Given the description of an element on the screen output the (x, y) to click on. 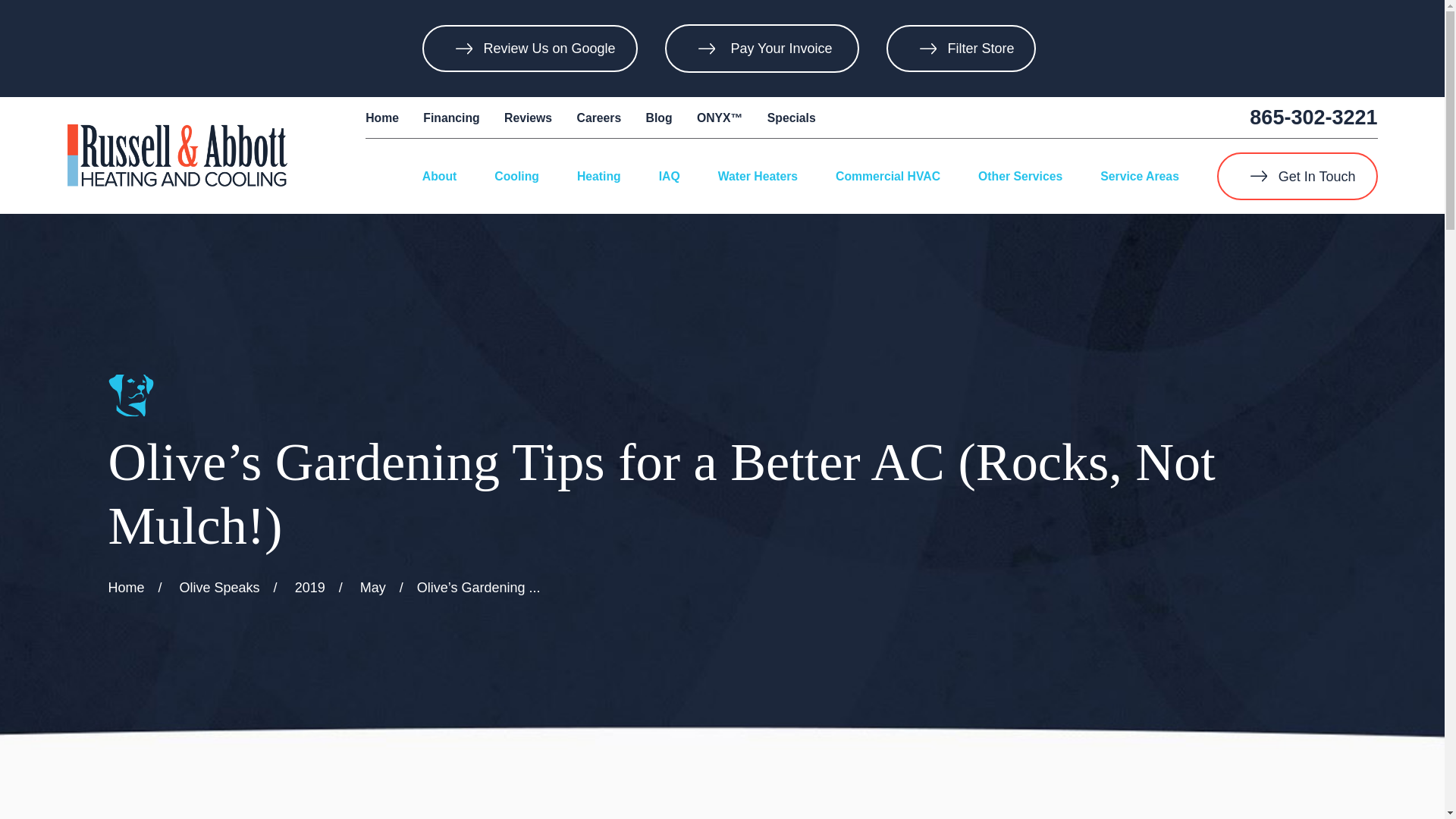
Home (176, 154)
Home (381, 117)
Pay Your Invoice (780, 49)
Careers (598, 117)
Reviews (527, 117)
Specials (791, 117)
Filter Store (961, 48)
Financing (451, 117)
Pay Your Invoice (780, 49)
Heating (598, 175)
